Given the description of an element on the screen output the (x, y) to click on. 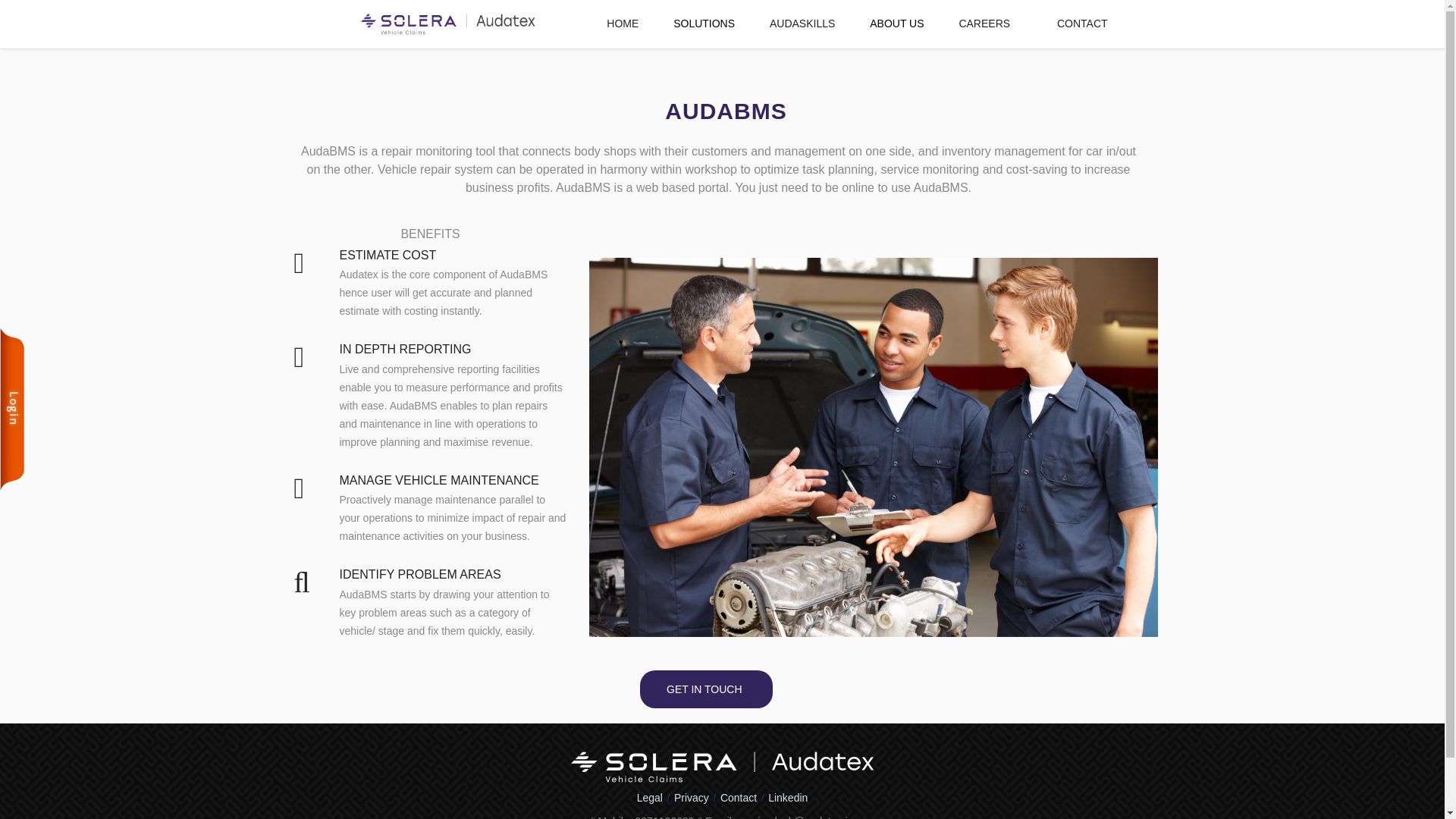
CONTACT (1082, 23)
AUDASKILLS (802, 23)
Privacy (691, 795)
ABOUT US (896, 23)
HOME (623, 23)
CAREERS (984, 23)
GET IN TOUCH (706, 689)
SOLUTIONS (703, 23)
GET IN TOUCH (705, 689)
Linkedin (788, 795)
